Given the description of an element on the screen output the (x, y) to click on. 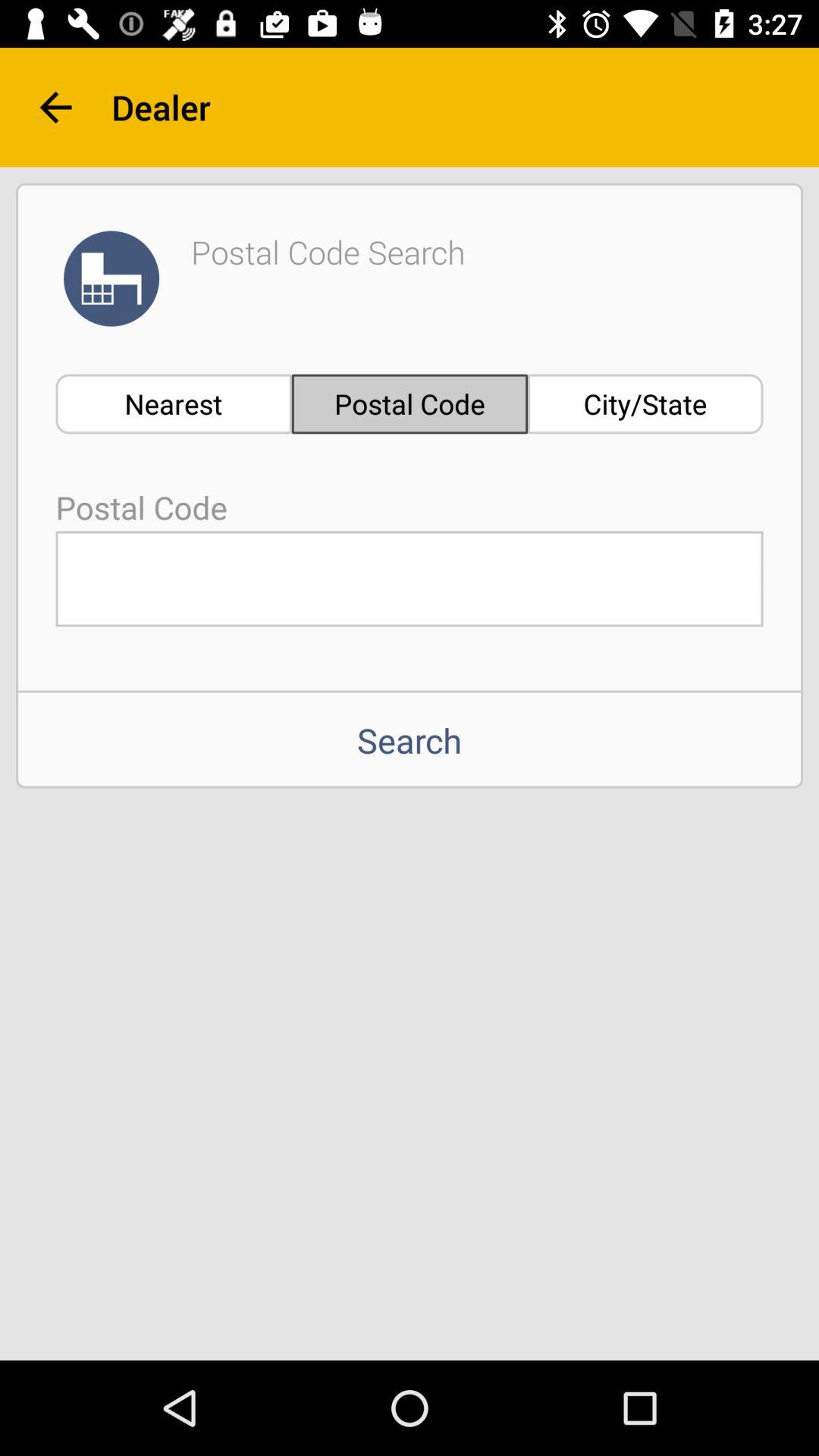
open icon to the left of the postal code item (173, 403)
